Given the description of an element on the screen output the (x, y) to click on. 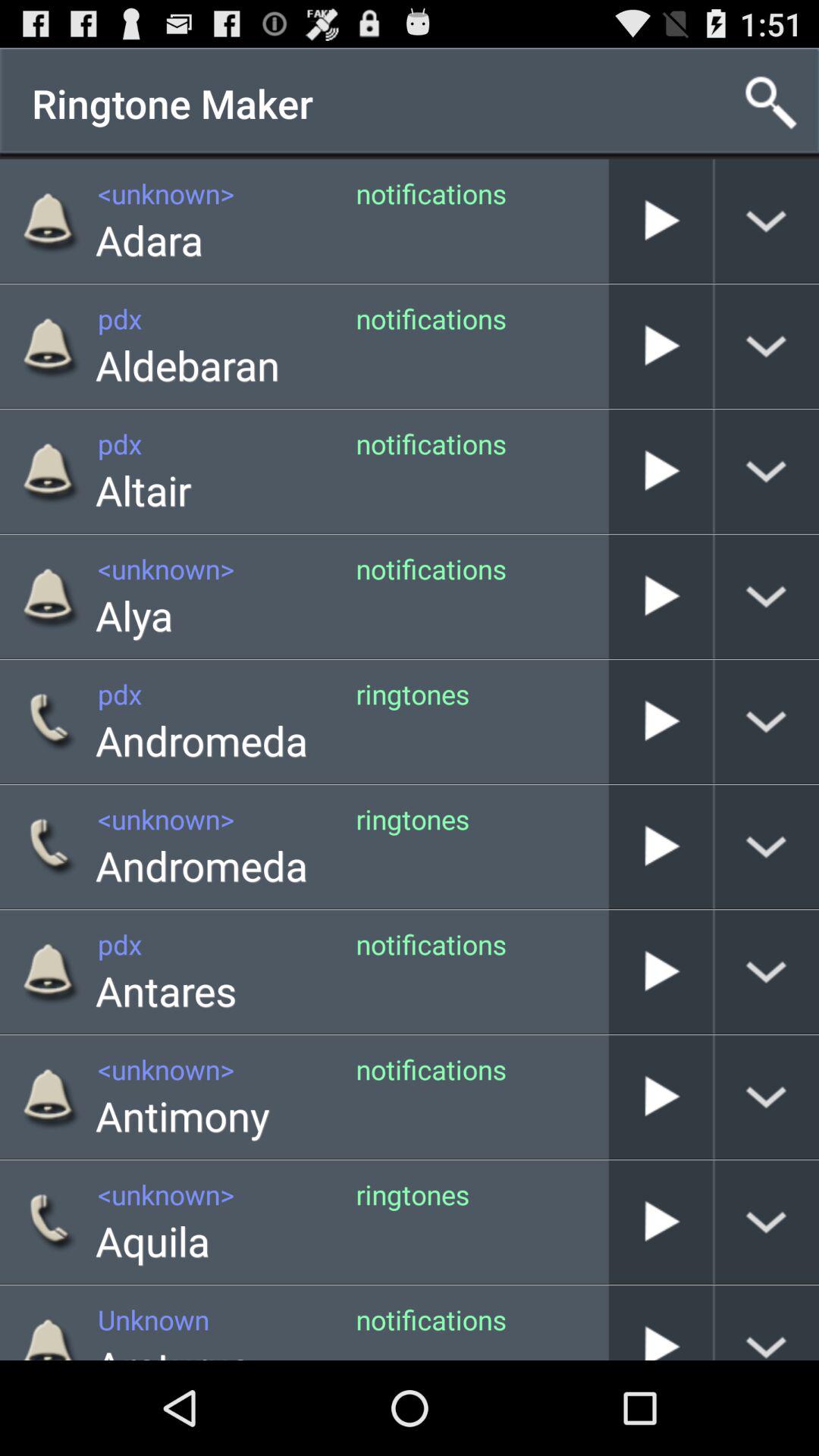
play message (660, 1322)
